Given the description of an element on the screen output the (x, y) to click on. 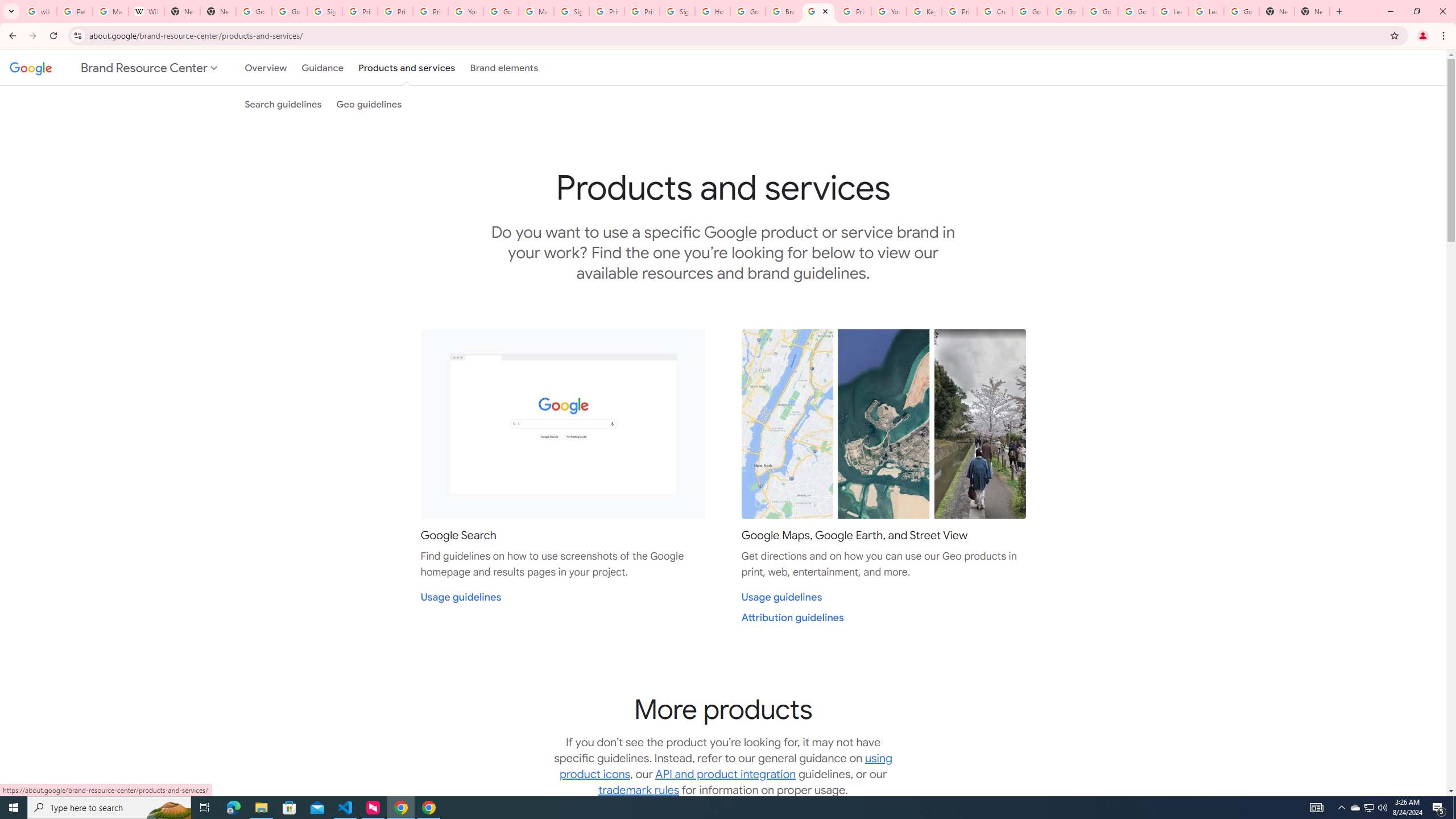
Google Account (1240, 11)
API and product integration (725, 774)
Manage your Location History - Google Search Help (110, 11)
Attribution guidelines (792, 617)
YouTube (465, 11)
Google Account Help (1064, 11)
New Tab (1312, 11)
